Given the description of an element on the screen output the (x, y) to click on. 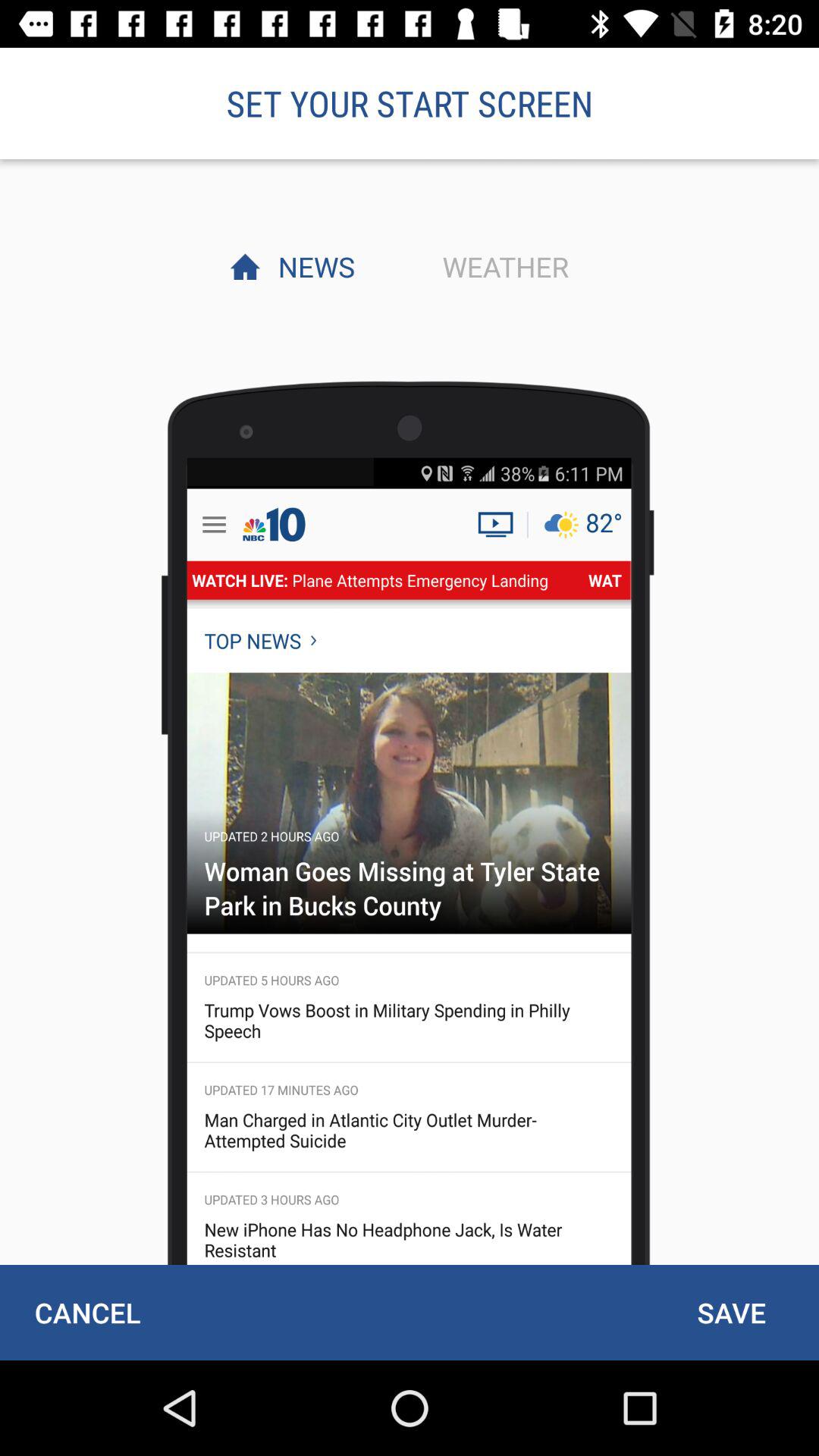
launch cancel (87, 1312)
